Given the description of an element on the screen output the (x, y) to click on. 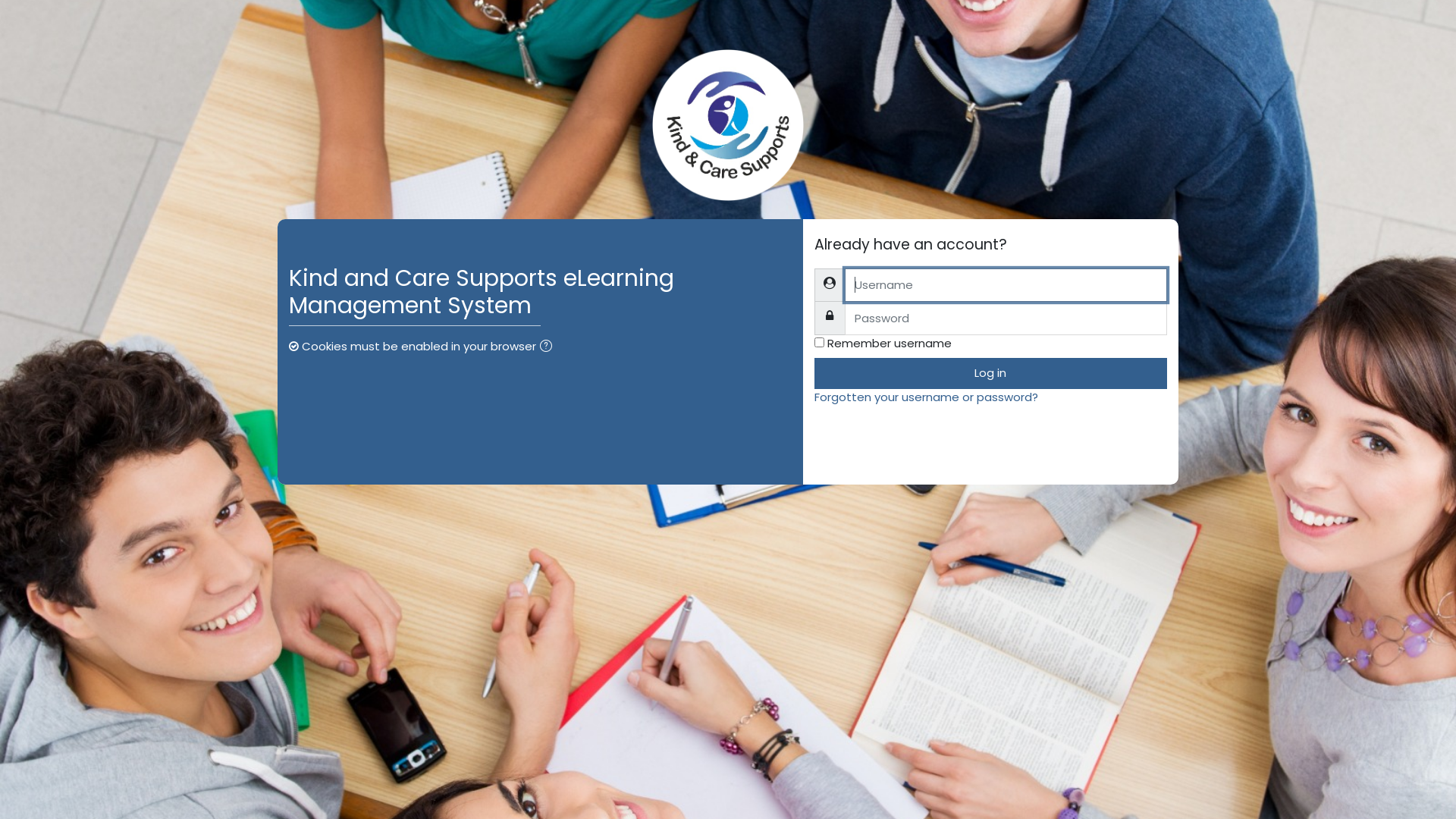
Forgotten your username or password? Element type: text (926, 396)
Help with Cookies must be enabled in your browser Element type: hover (545, 345)
Log in Element type: text (990, 373)
Kind and Care Supports eLearning Management System Element type: hover (727, 124)
